Given the description of an element on the screen output the (x, y) to click on. 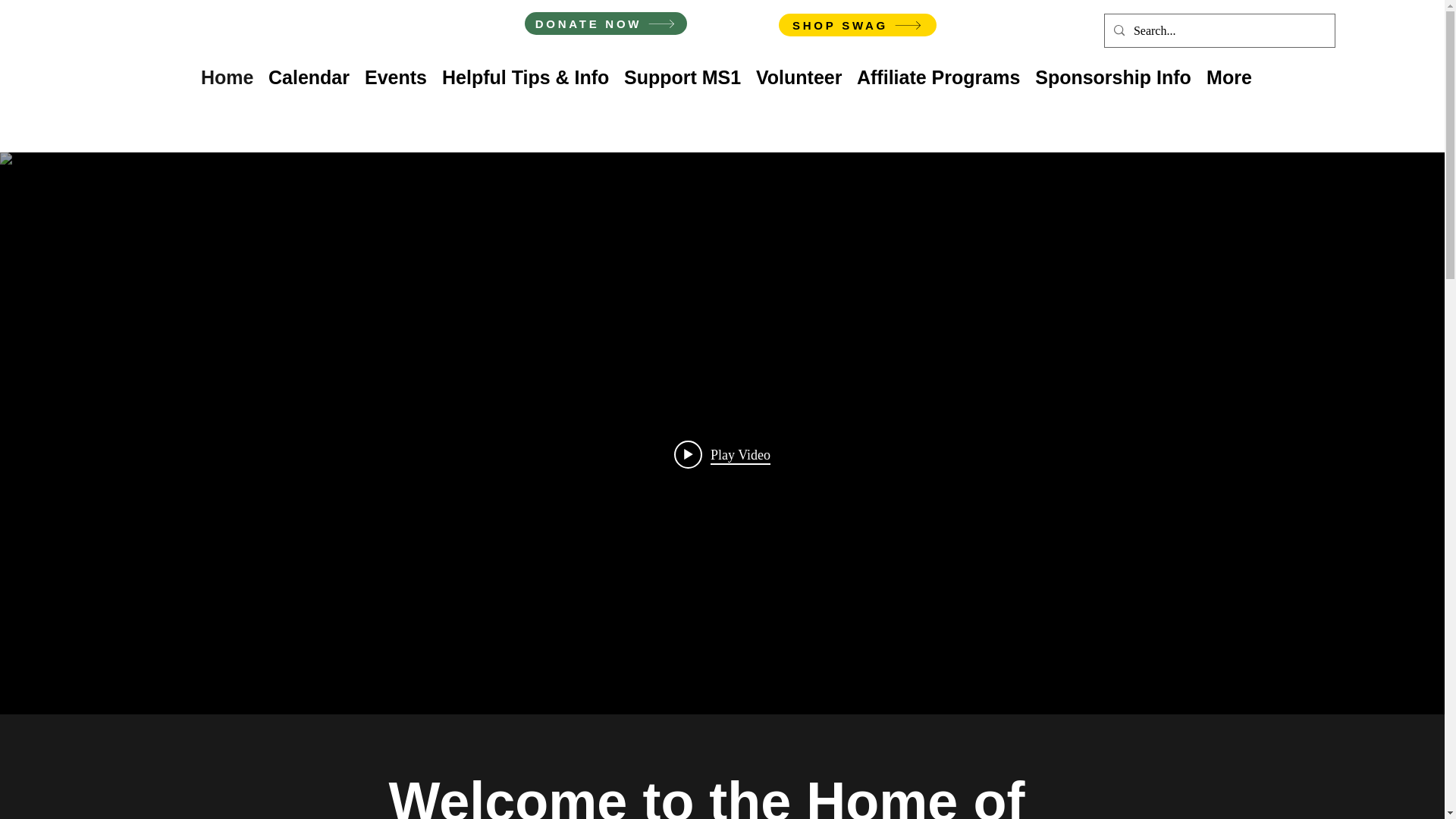
Calendar (308, 75)
SHOP SWAG (856, 24)
DONATE NOW (605, 23)
Support MS1 (681, 75)
Home (226, 75)
Play Video (722, 453)
